Given the description of an element on the screen output the (x, y) to click on. 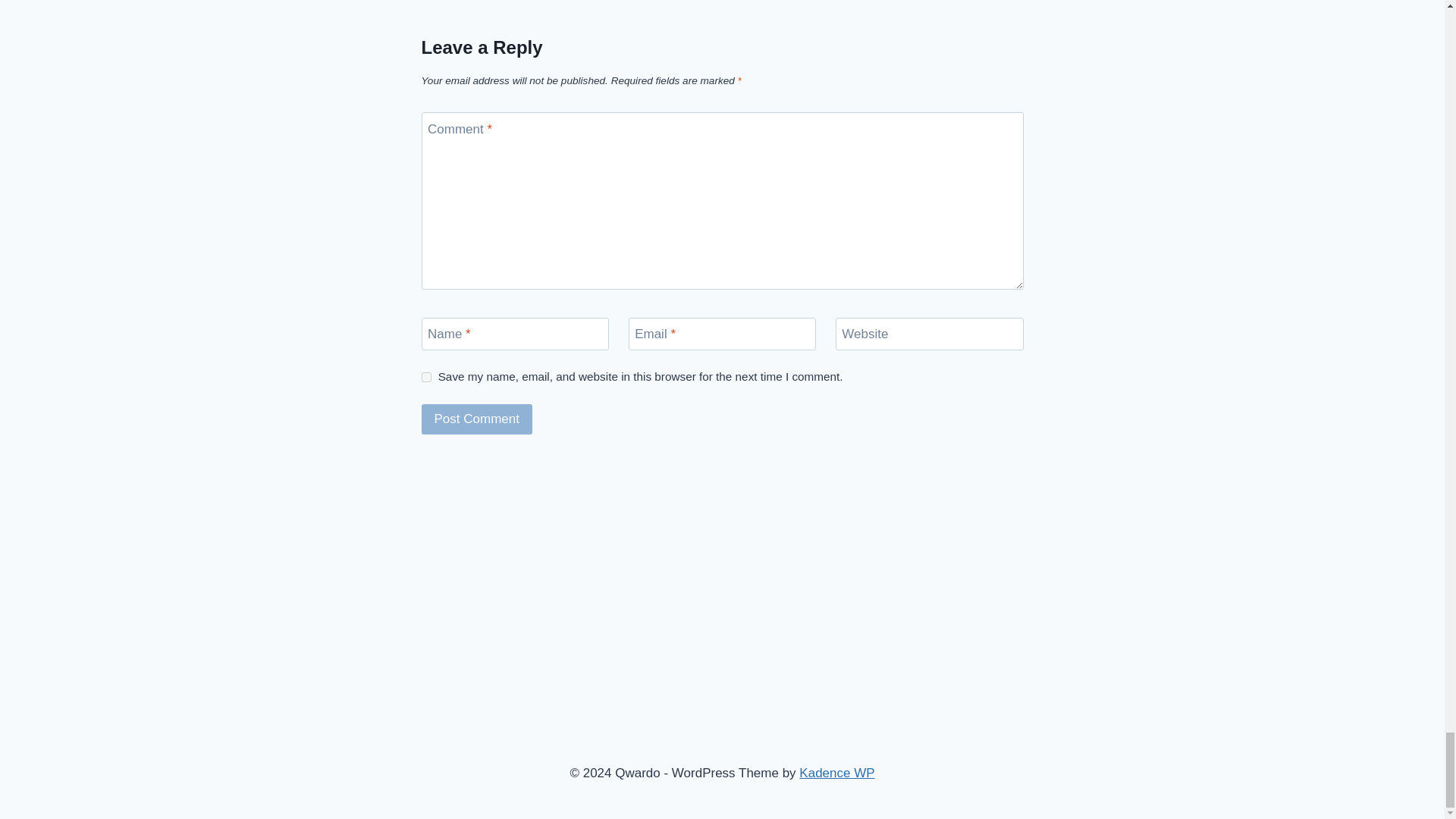
Post Comment (477, 419)
yes (426, 377)
